Given the description of an element on the screen output the (x, y) to click on. 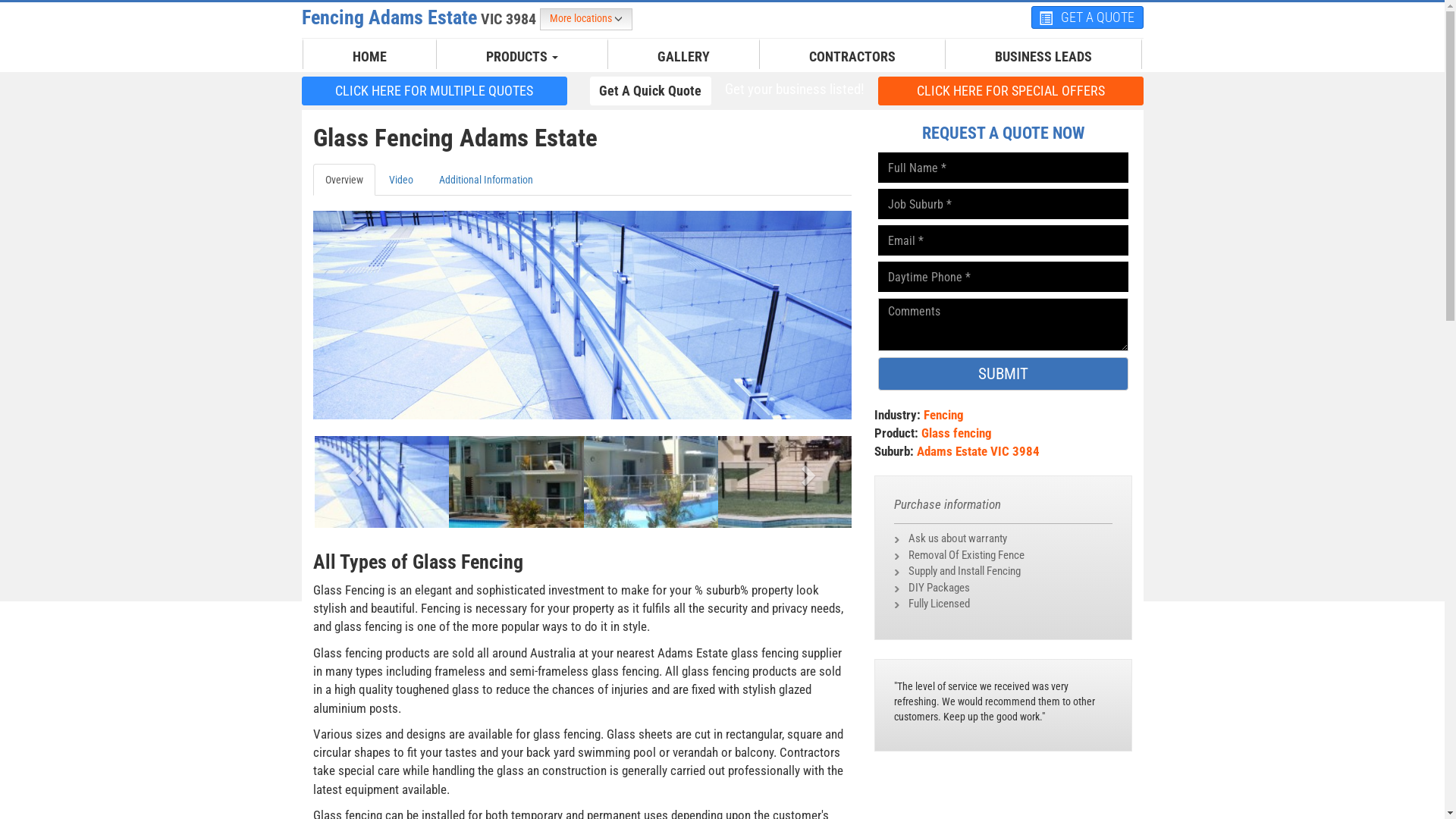
Overview Element type: text (343, 179)
Get A Quick Quote Element type: text (650, 90)
SUBMIT Element type: text (1003, 373)
CLICK HERE FOR MULTIPLE QUOTES Element type: text (434, 90)
CONTRACTORS Element type: text (851, 56)
prev Element type: hover (352, 470)
PRODUCTS Element type: text (521, 56)
BUSINESS LEADS Element type: text (1042, 56)
GALLERY Element type: text (683, 56)
Fencing Adams Estate VIC 3984 Element type: text (420, 17)
Get your business listed! Element type: text (793, 89)
More locations Element type: text (585, 19)
CLICK HERE FOR MULTIPLE QUOTES Element type: text (434, 90)
Get A Quick Quote Element type: text (650, 90)
CLICK HERE FOR SPECIAL OFFERS Element type: text (1010, 90)
Video Element type: text (400, 179)
HOME Element type: text (369, 56)
Additional Information Element type: text (485, 179)
CLICK HERE FOR SPECIAL OFFERS Element type: text (1010, 90)
GET A QUOTE Element type: text (1087, 17)
